Given the description of an element on the screen output the (x, y) to click on. 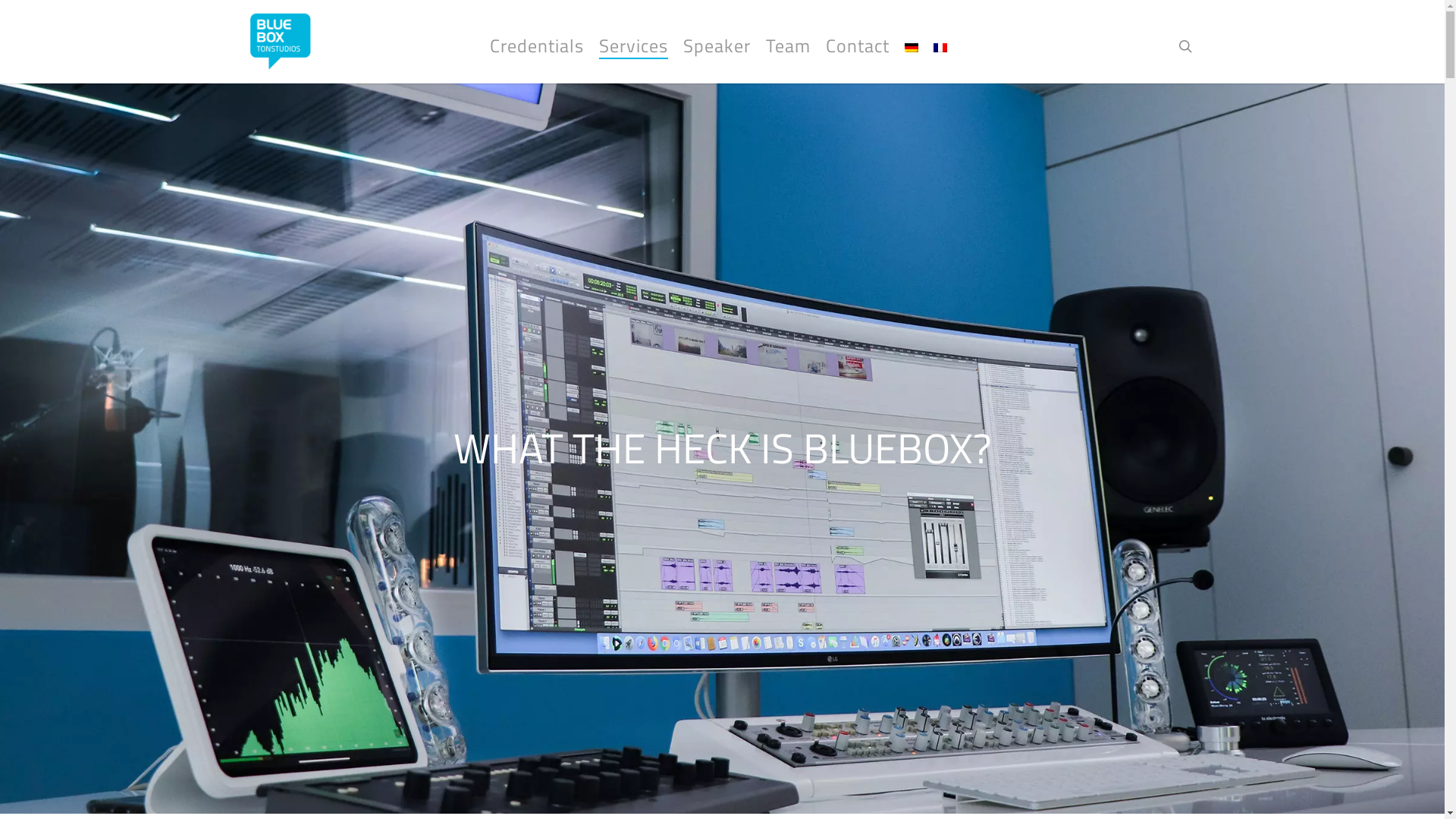
Credentials Element type: text (536, 45)
Speaker Element type: text (716, 45)
Contact Element type: text (857, 45)
Team Element type: text (787, 45)
Services Element type: text (633, 45)
